Given the description of an element on the screen output the (x, y) to click on. 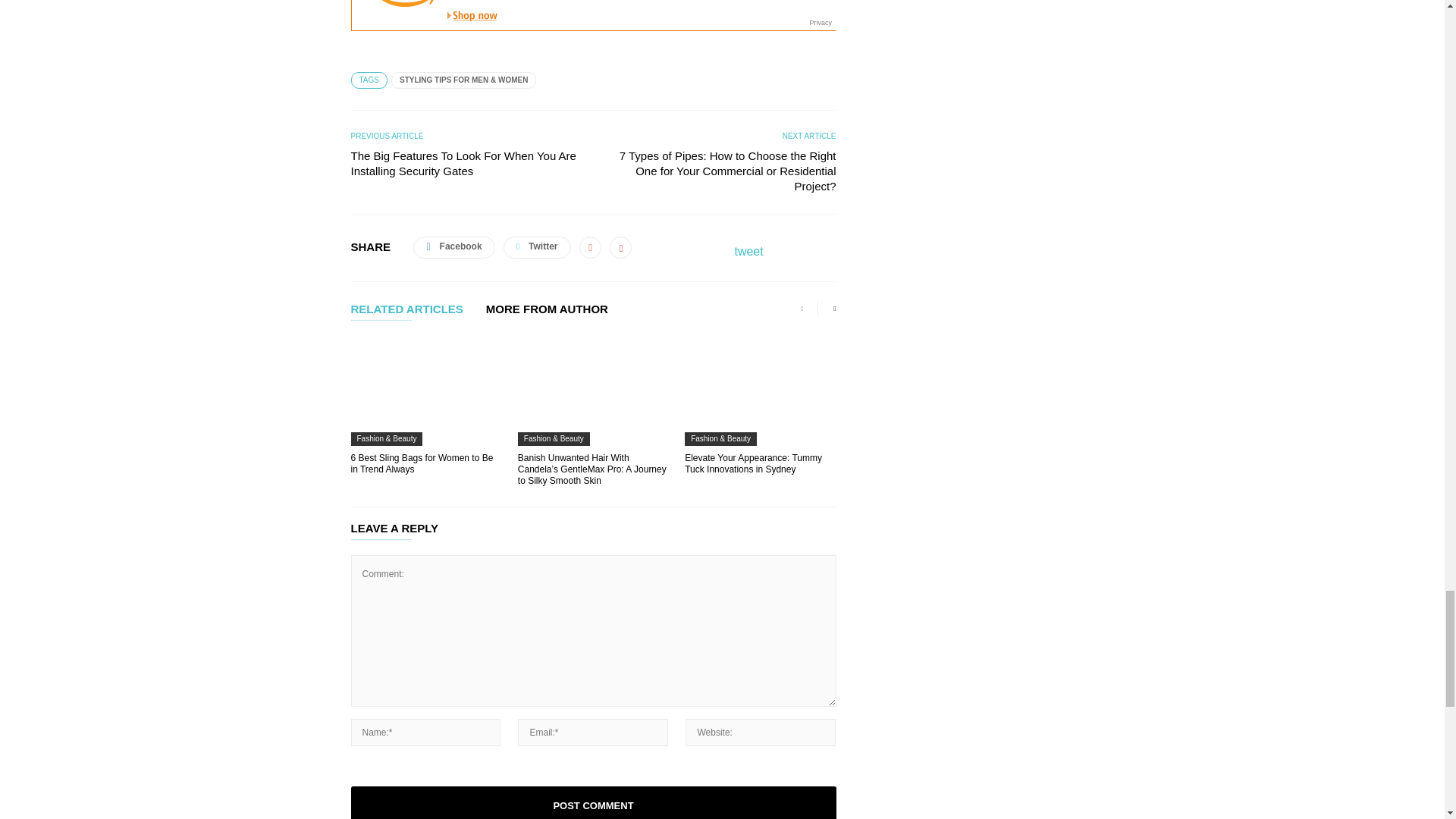
Post Comment (592, 802)
